Given the description of an element on the screen output the (x, y) to click on. 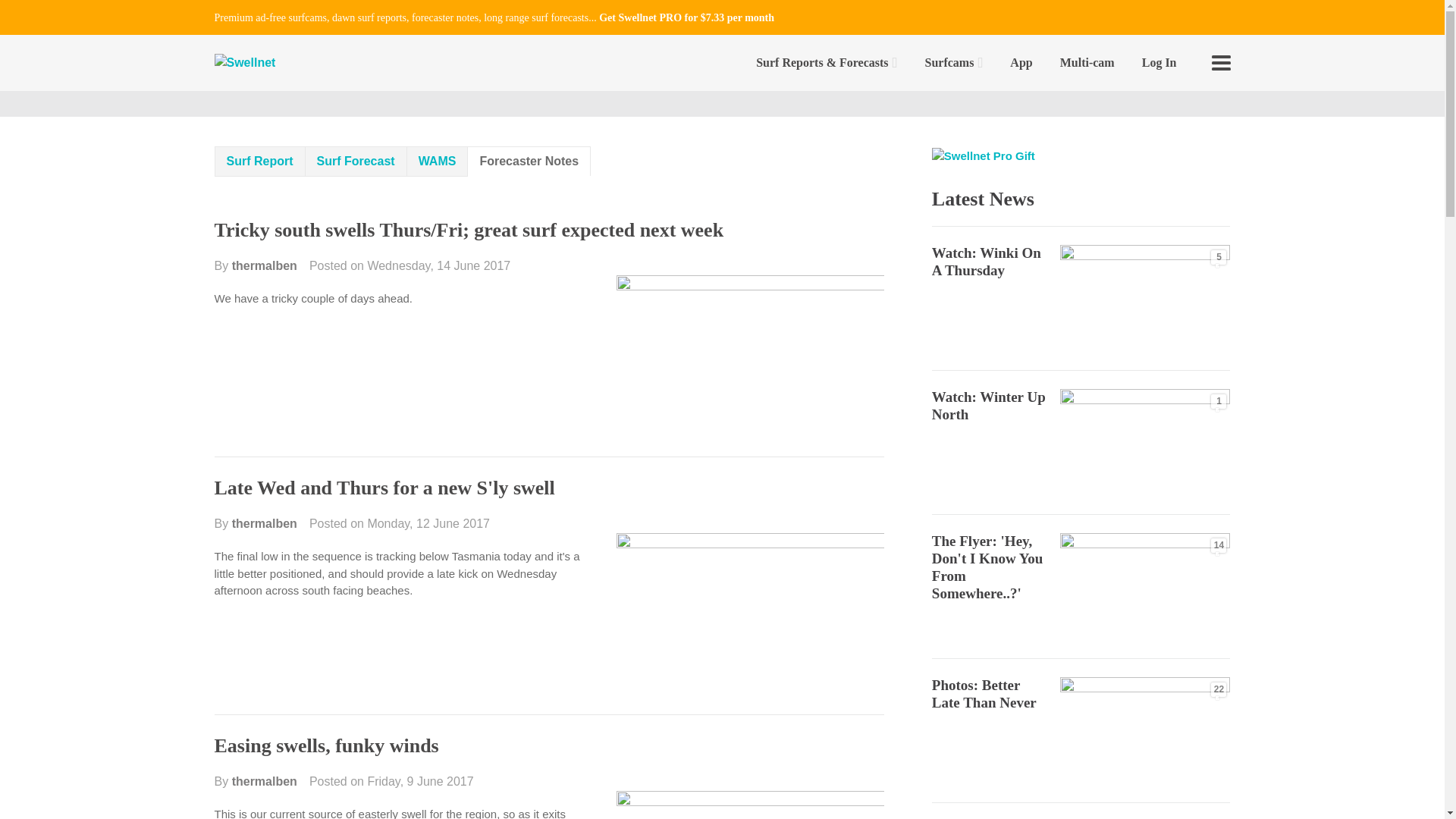
Surf Report (259, 161)
Forecaster Notes (529, 161)
Surf Forecast (355, 161)
Surfcams (954, 62)
Late Wed and Thurs for a new S'ly swell (384, 487)
Log In (1159, 62)
Multi-cam (1087, 62)
WAMS (437, 161)
Easing swells, funky winds (326, 745)
Swellnet (244, 63)
